Given the description of an element on the screen output the (x, y) to click on. 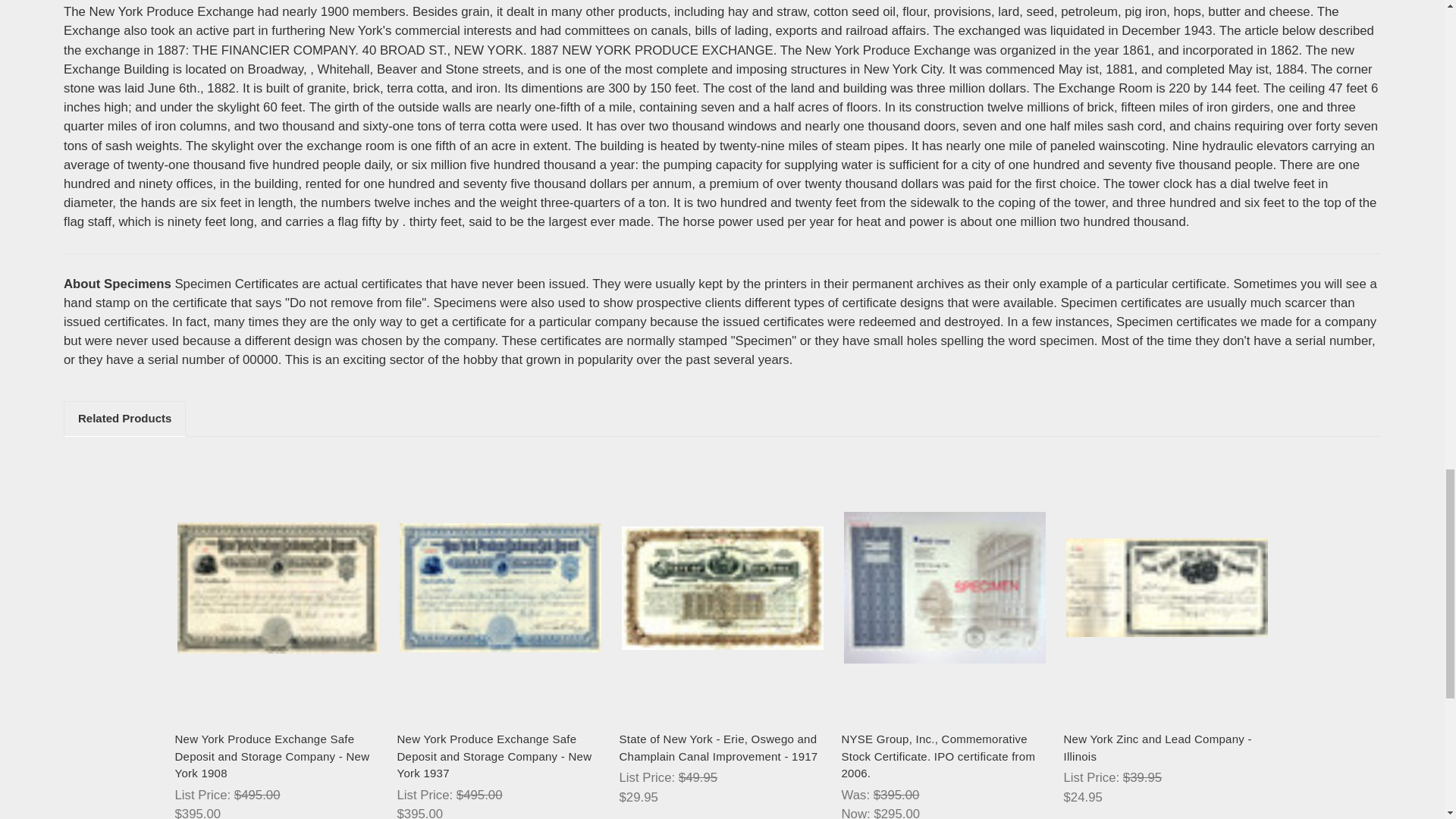
New York Zinc and Lead Company - Illinois (1166, 587)
